Given the description of an element on the screen output the (x, y) to click on. 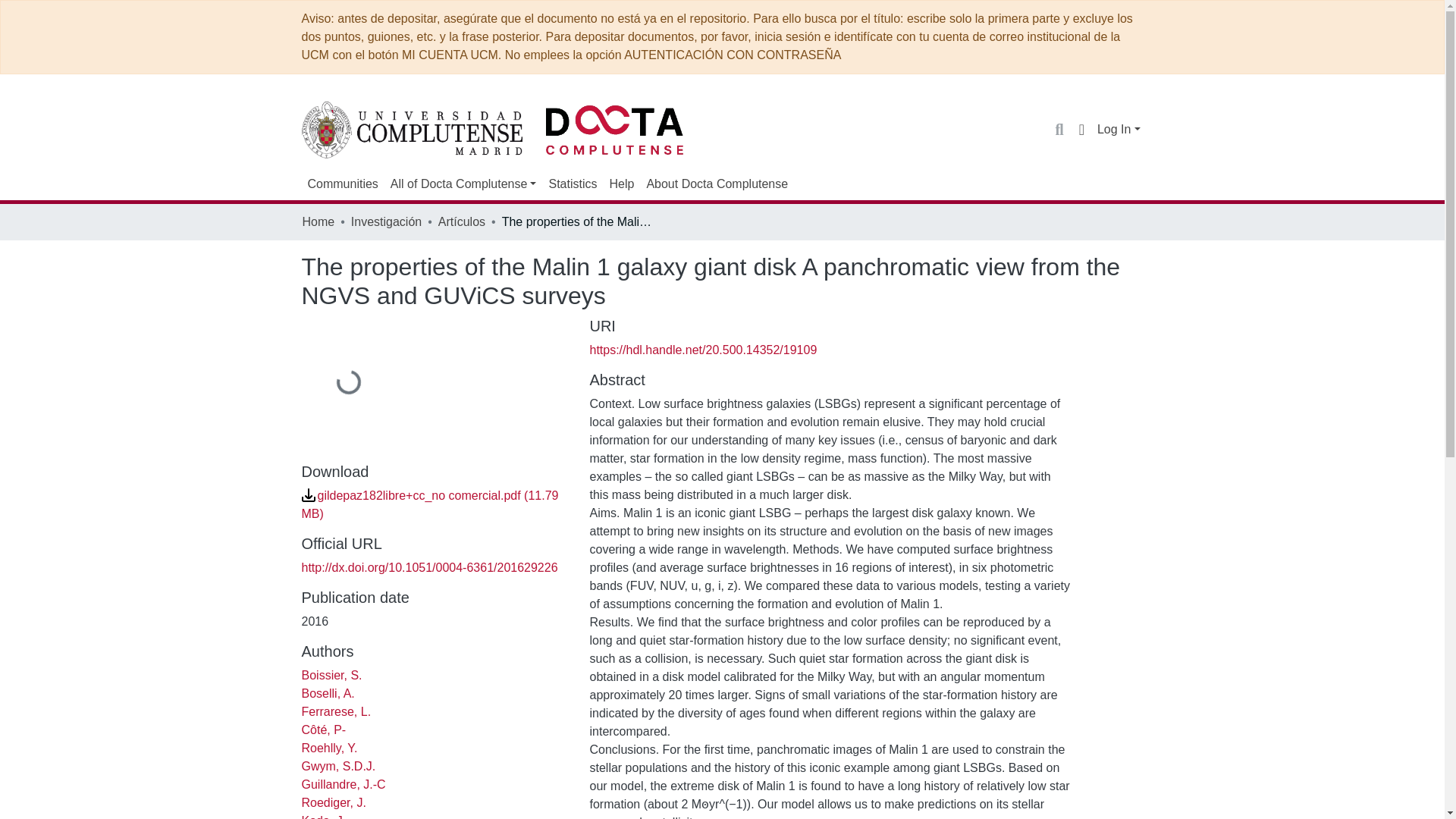
Log In (1118, 128)
Home (317, 221)
Gwym, S.D.J. (338, 766)
Koda, J. (323, 816)
Language switch (1081, 129)
Boissier, S. (331, 675)
Search (1058, 129)
Statistics (571, 183)
Ferrarese, L. (336, 711)
Roediger, J. (333, 802)
